Given the description of an element on the screen output the (x, y) to click on. 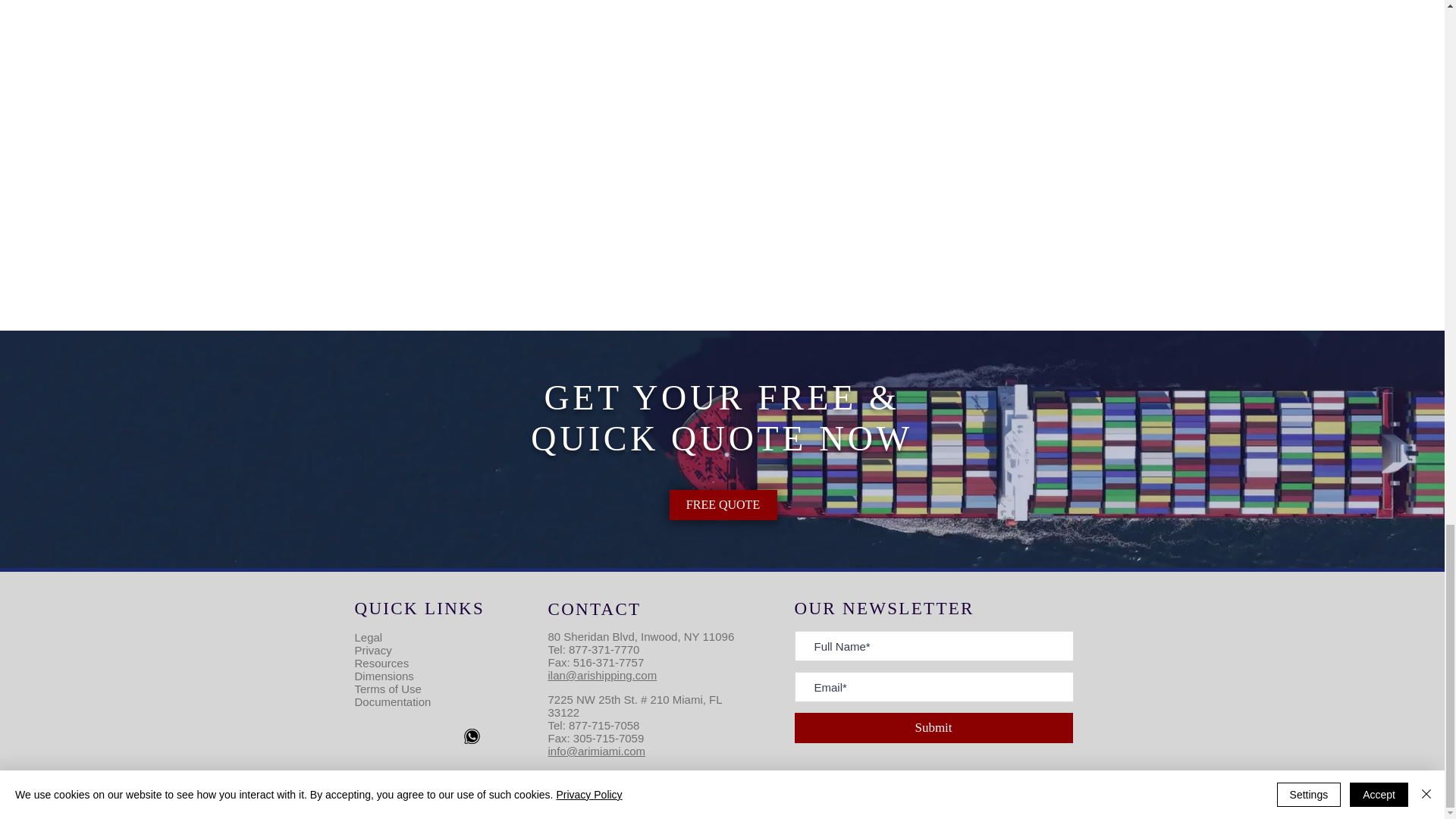
Privacy (373, 649)
Resources (382, 662)
Legal (368, 636)
Documentation (392, 701)
FREE QUOTE (722, 504)
Dimensions (384, 675)
Terms of Use (388, 688)
